Given the description of an element on the screen output the (x, y) to click on. 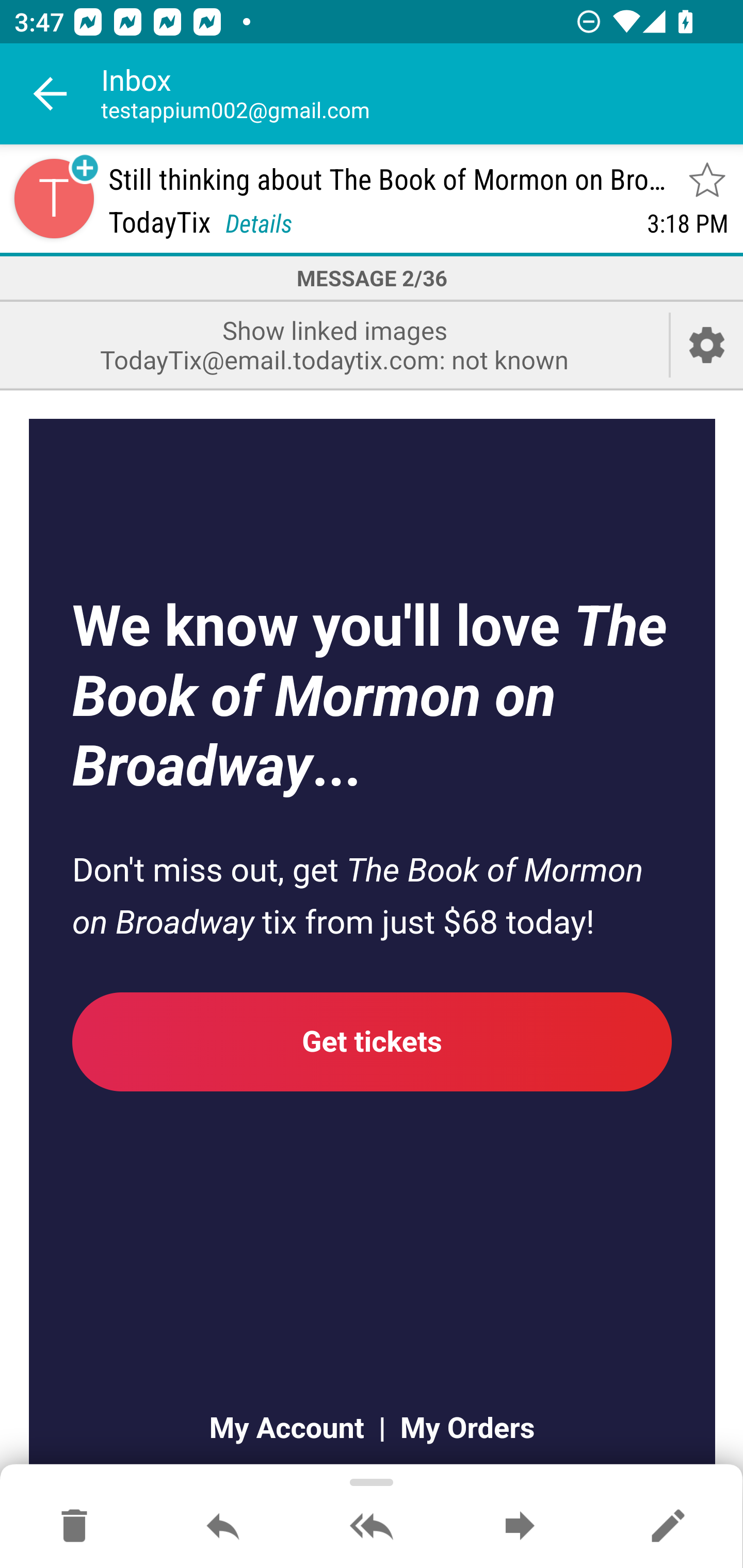
Navigate up (50, 93)
Inbox testappium002@gmail.com (422, 93)
Sender contact button (53, 198)
Account setup (706, 344)
Get tickets (372, 1040)
My Account  | (296, 1427)
  My Orders (460, 1427)
Move to Deleted (74, 1527)
Reply (222, 1527)
Reply all (371, 1527)
Forward (519, 1527)
Reply as new (667, 1527)
